Given the description of an element on the screen output the (x, y) to click on. 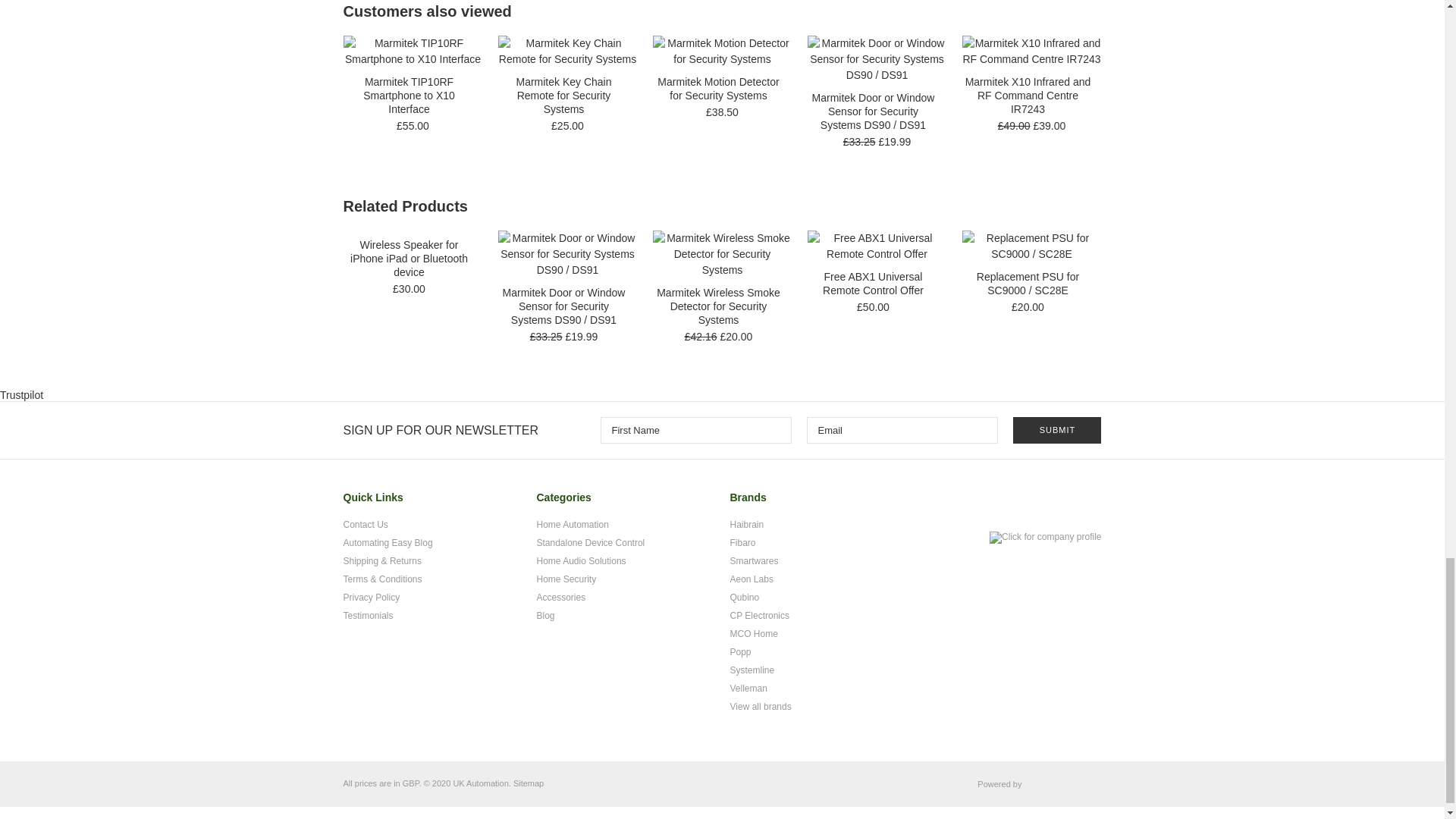
Twitter (996, 502)
RSS (1084, 502)
British Pounds (411, 782)
LinkedIn (1054, 502)
Email (901, 429)
Submit (1056, 429)
First Name (695, 429)
Facebook (1025, 502)
